Given the description of an element on the screen output the (x, y) to click on. 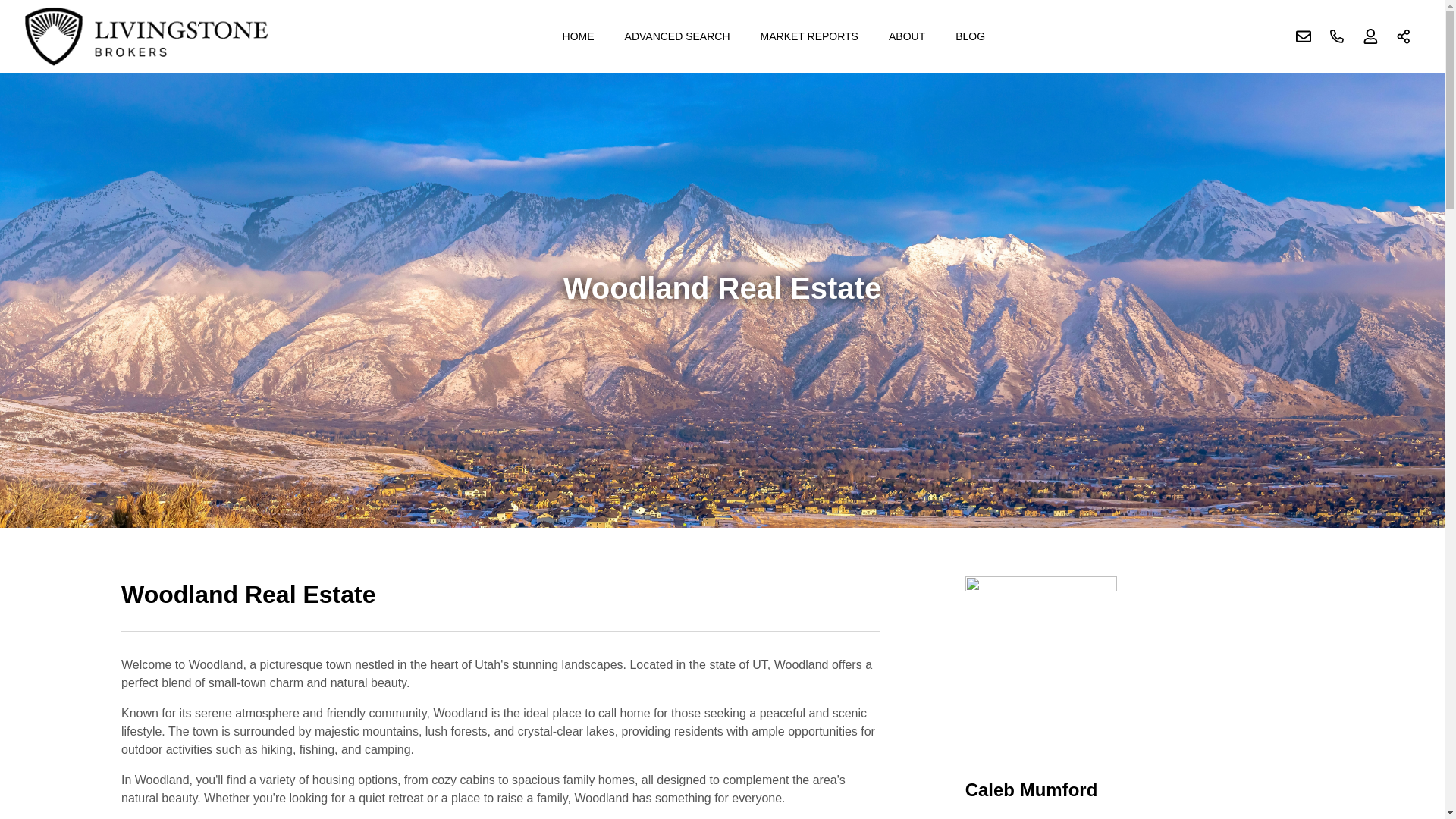
ADVANCED SEARCH (677, 36)
Phone number (1337, 36)
Livingutah.com (146, 35)
Share (1404, 36)
Contact us (1303, 36)
Sign up or Sign in (1370, 36)
MARKET REPORTS (809, 36)
Woodland Real Estate (500, 603)
